Given the description of an element on the screen output the (x, y) to click on. 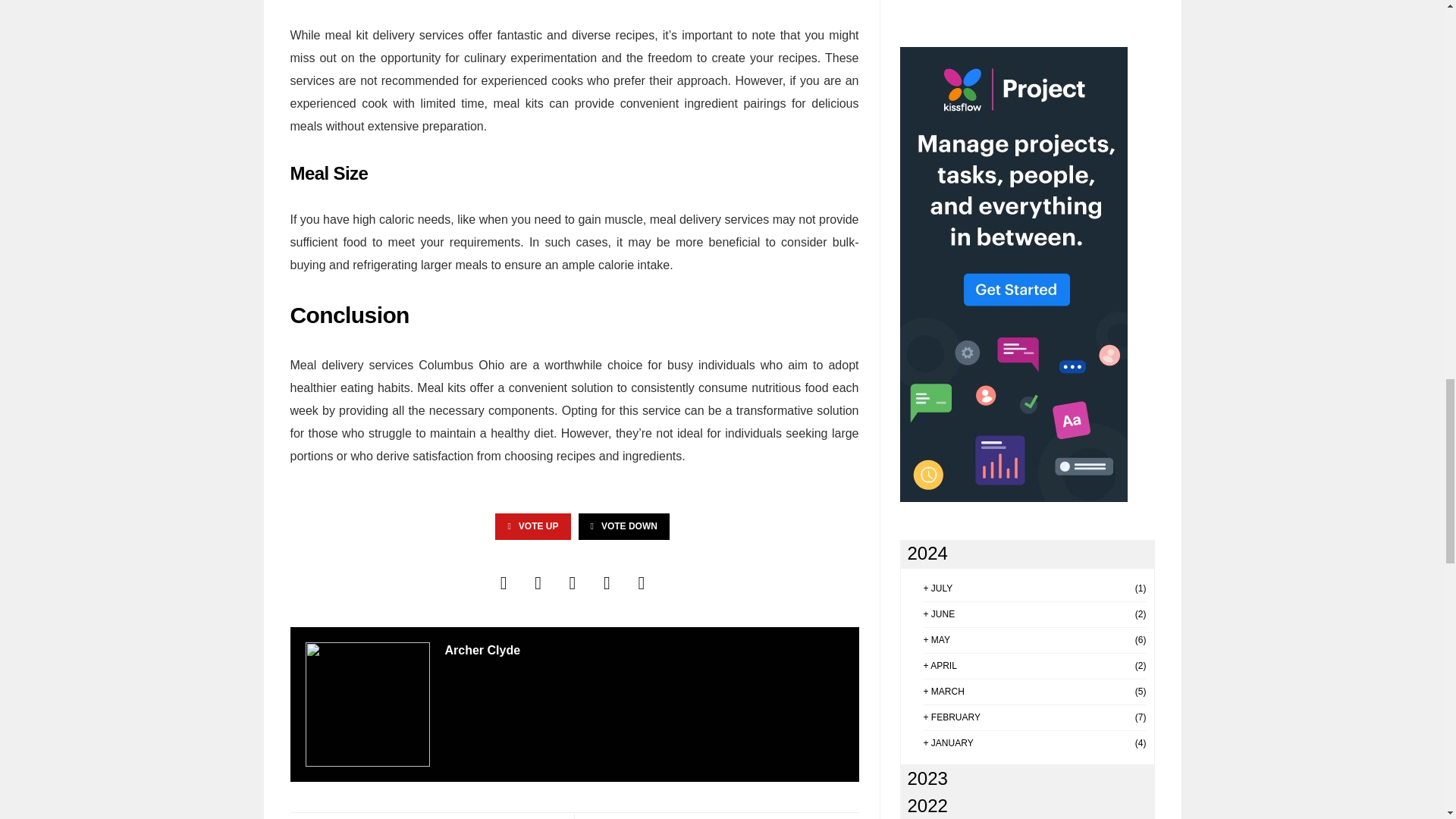
Archer Clyde (481, 649)
VOTE DOWN (623, 526)
VOTE UP (532, 526)
